Given the description of an element on the screen output the (x, y) to click on. 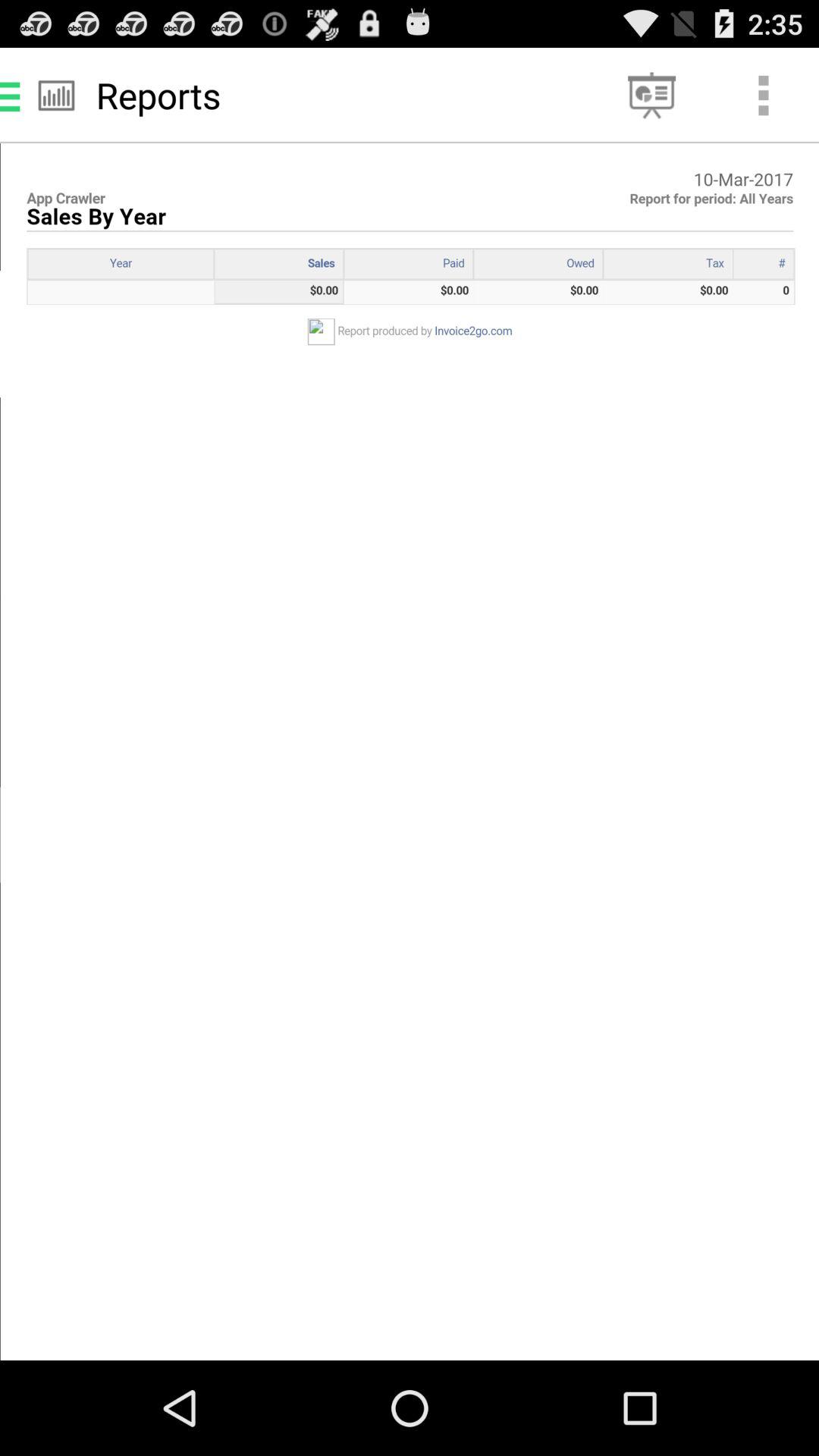
description image (409, 751)
